Given the description of an element on the screen output the (x, y) to click on. 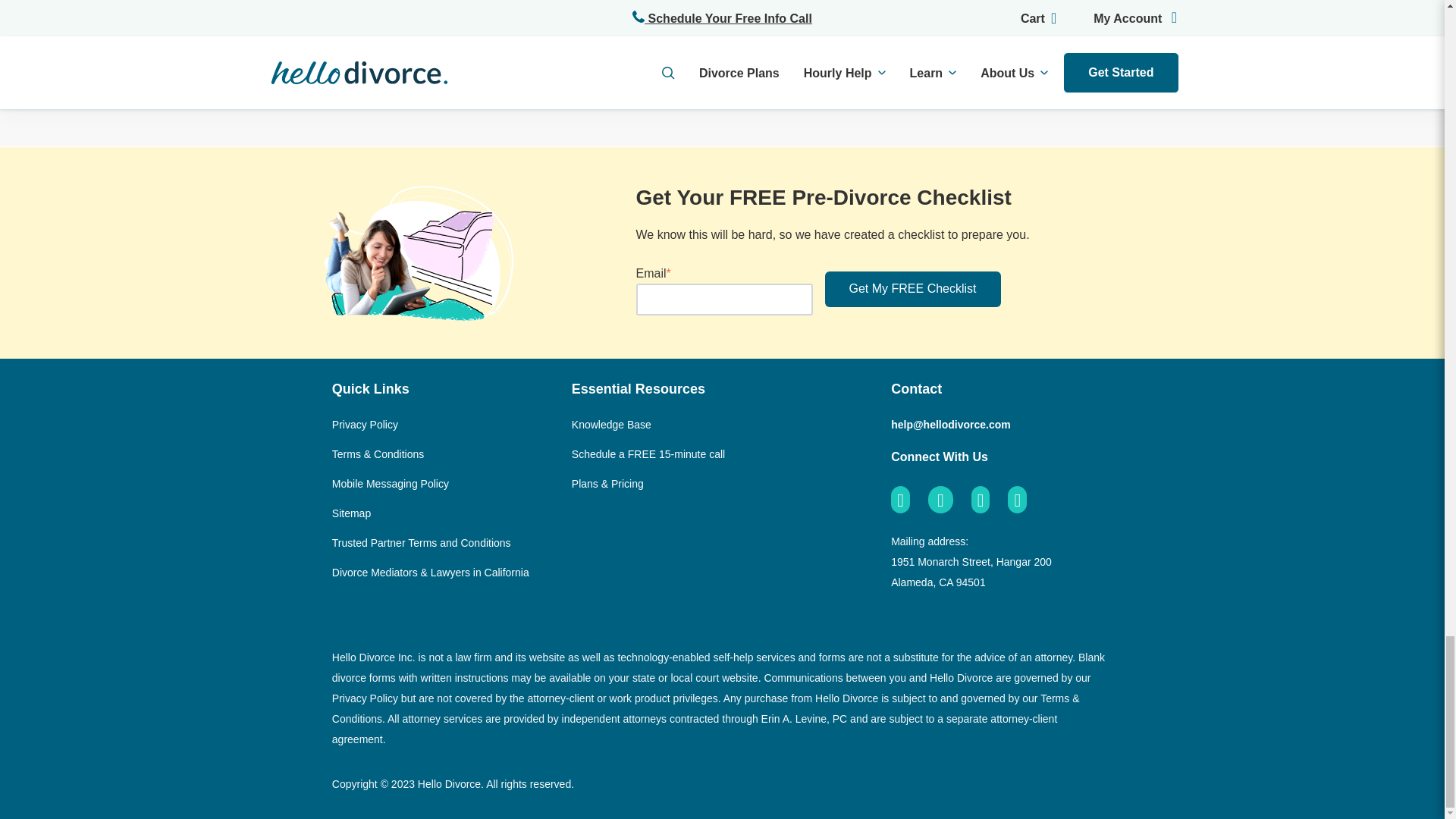
Get My FREE Checklist (913, 288)
